Given the description of an element on the screen output the (x, y) to click on. 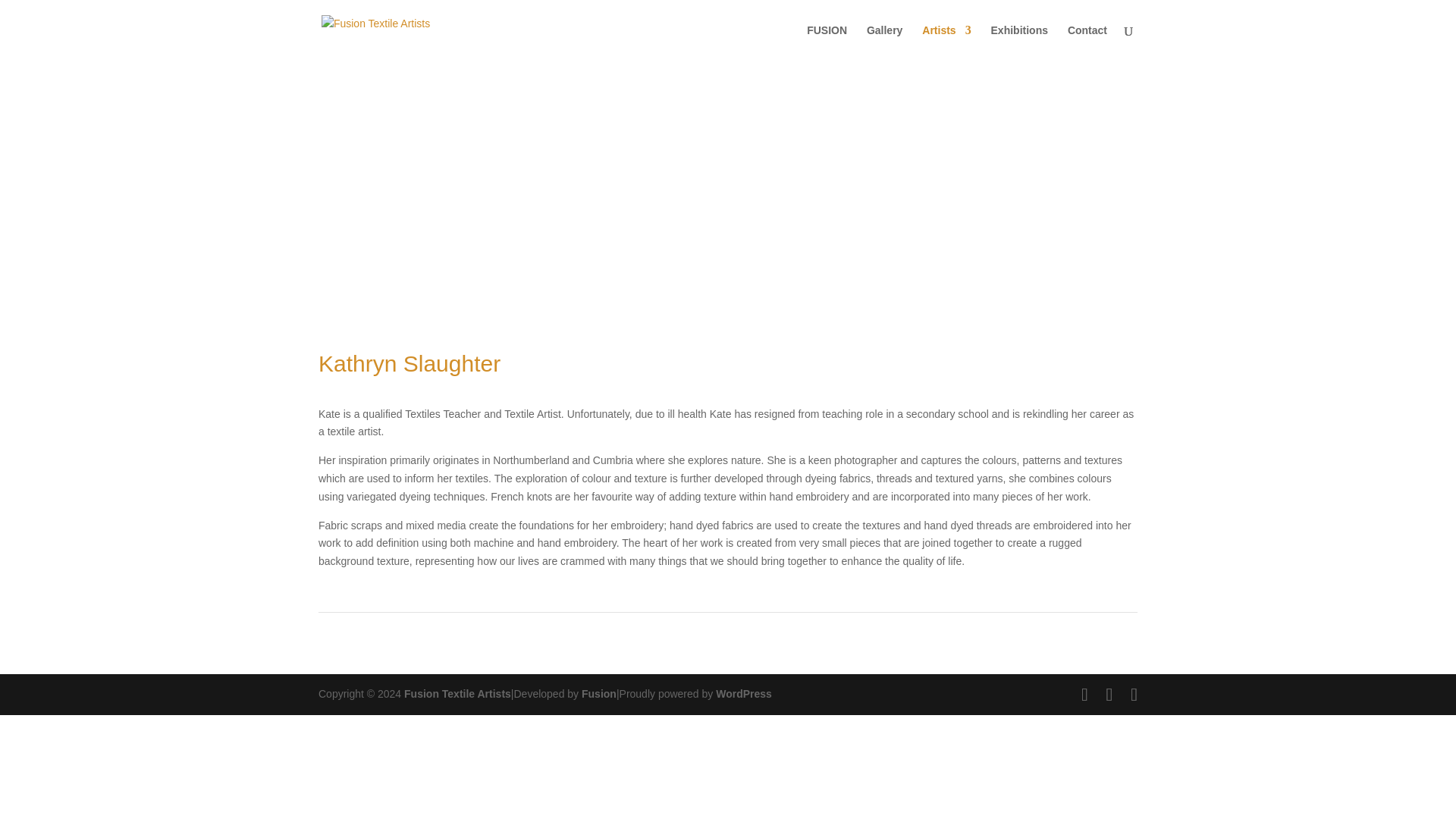
Contact (1086, 42)
FUSION (826, 42)
Fusion (597, 693)
Fusion Textile Artists (457, 693)
Gallery (884, 42)
WordPress (743, 693)
Exhibitions (1019, 42)
Artists (946, 42)
